Given the description of an element on the screen output the (x, y) to click on. 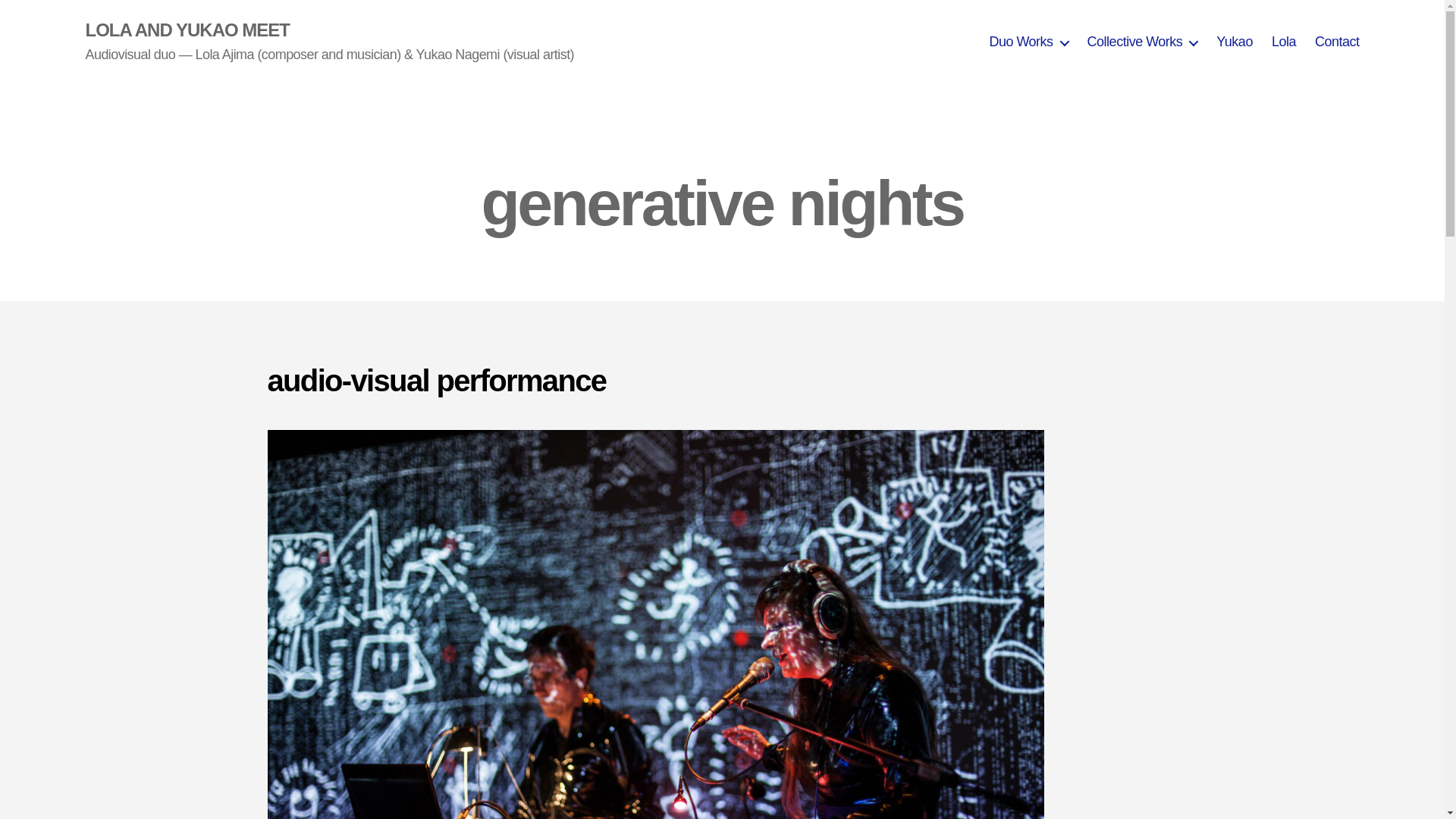
Yukao (1233, 42)
Lola (1283, 42)
Duo Works (1027, 42)
Collective Works (1142, 42)
LOLA AND YUKAO MEET (186, 30)
Contact (1336, 42)
